Given the description of an element on the screen output the (x, y) to click on. 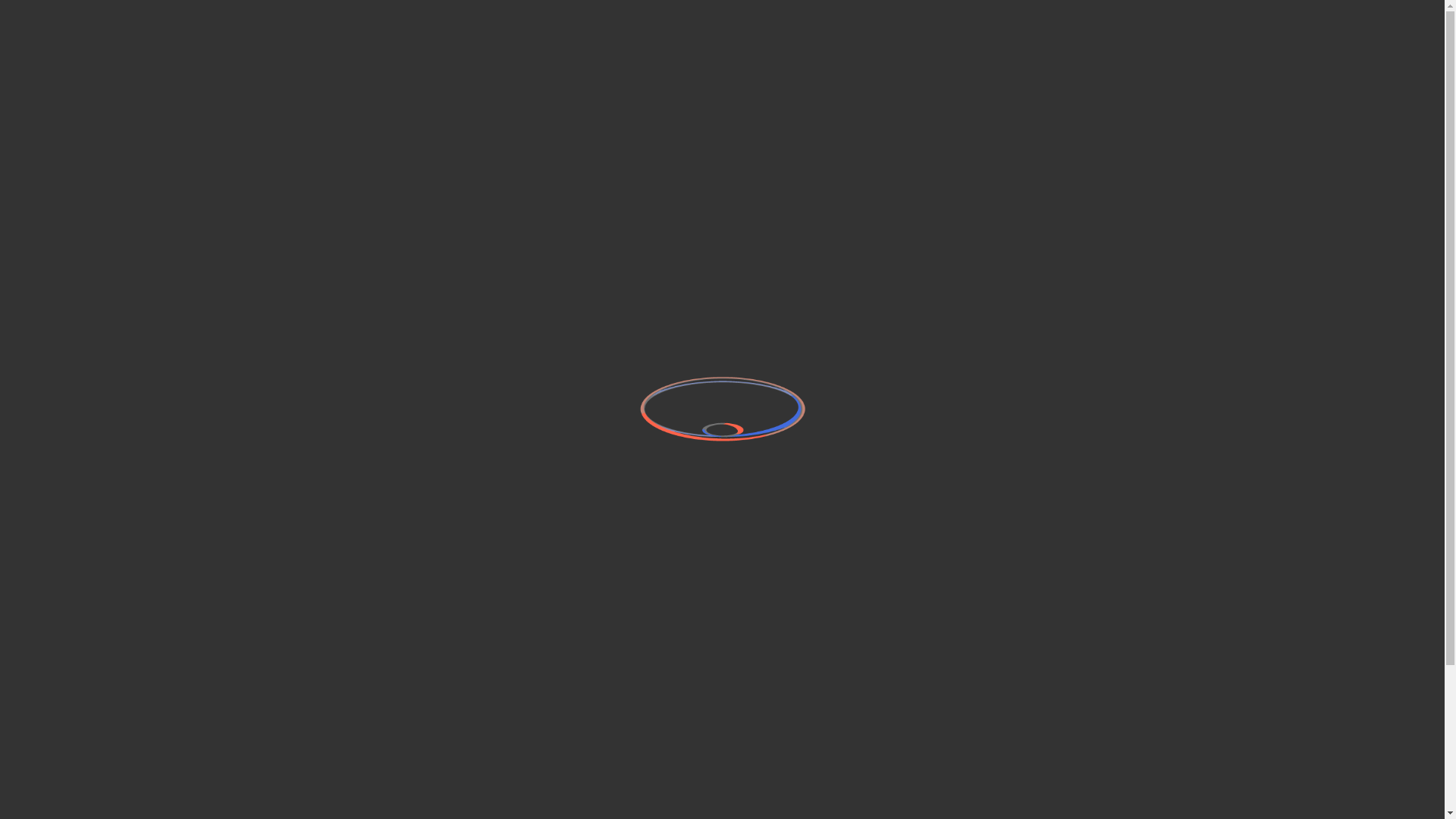
The 1980s: spurring collaboration Element type: text (692, 534)
Knowledge transfer Element type: text (827, 782)
Sign in Element type: text (1301, 14)
Apply Element type: text (619, 216)
CERN Accelerating science Element type: text (142, 14)
J Element type: text (337, 767)
Visits Element type: text (983, 782)
M Element type: text (406, 767)
Careers Element type: text (989, 754)
Home Element type: hover (122, 23)
RESOURCES Element type: text (1192, 43)
v Element type: text (302, 767)
Getting here Element type: text (616, 782)
ABOUT Element type: text (976, 43)
Science: a model for collaboration? Element type: text (699, 405)
1 Element type: text (439, 767)
SEARCH Element type: text (1286, 43)
W Element type: text (371, 767)
SCIENCE Element type: text (1107, 43)
Skip to main content Element type: text (0, 0)
NEWS Element type: text (1040, 43)
|
EN Element type: text (1348, 43)
Shaping science in South-East Europe Element type: text (710, 276)
Directory Element type: text (1351, 14)
Doing business with CERN Element type: text (843, 754)
Contact us Element type: text (611, 754)
